Given the description of an element on the screen output the (x, y) to click on. 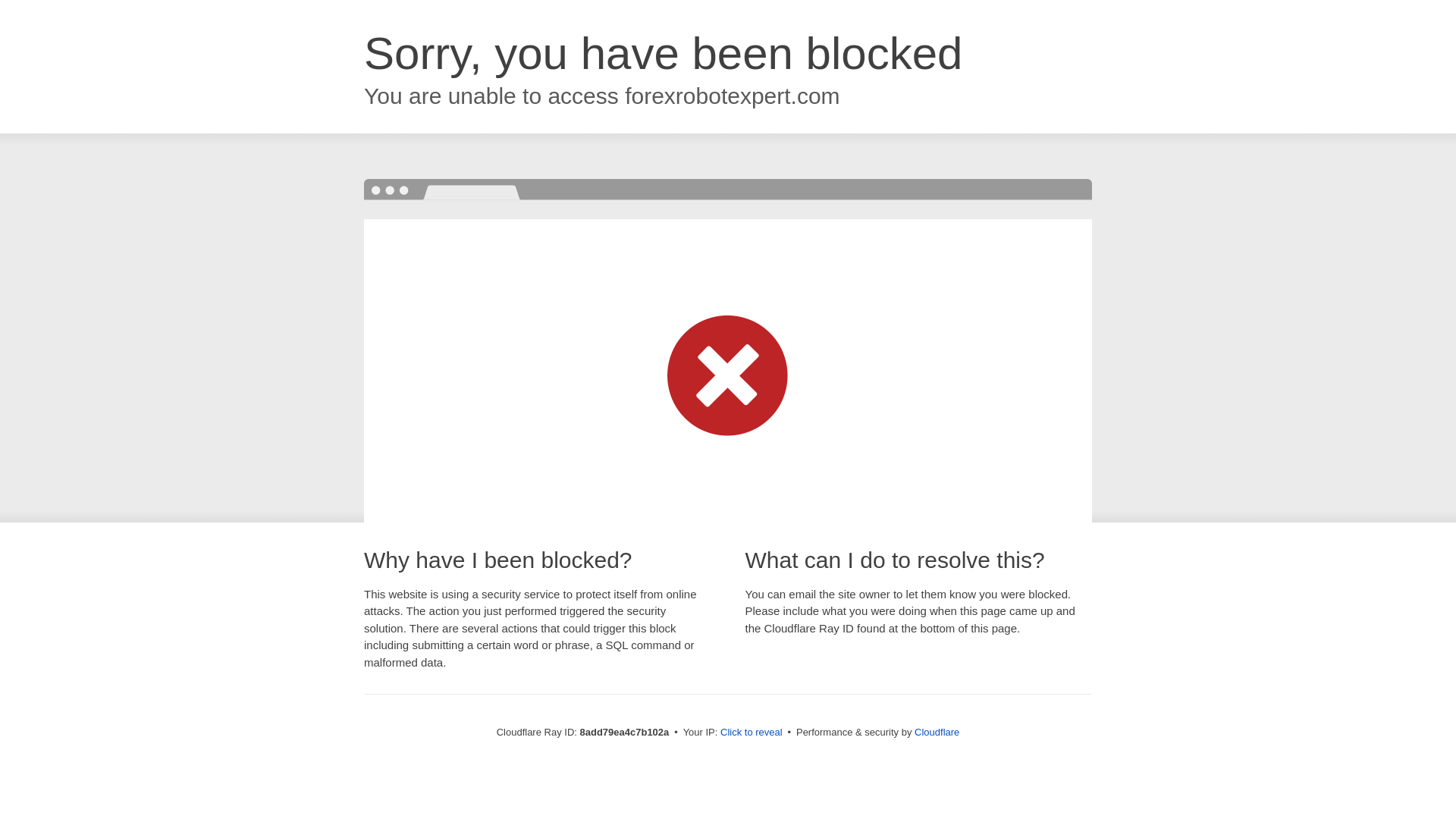
Cloudflare (936, 731)
Click to reveal (751, 732)
